Given the description of an element on the screen output the (x, y) to click on. 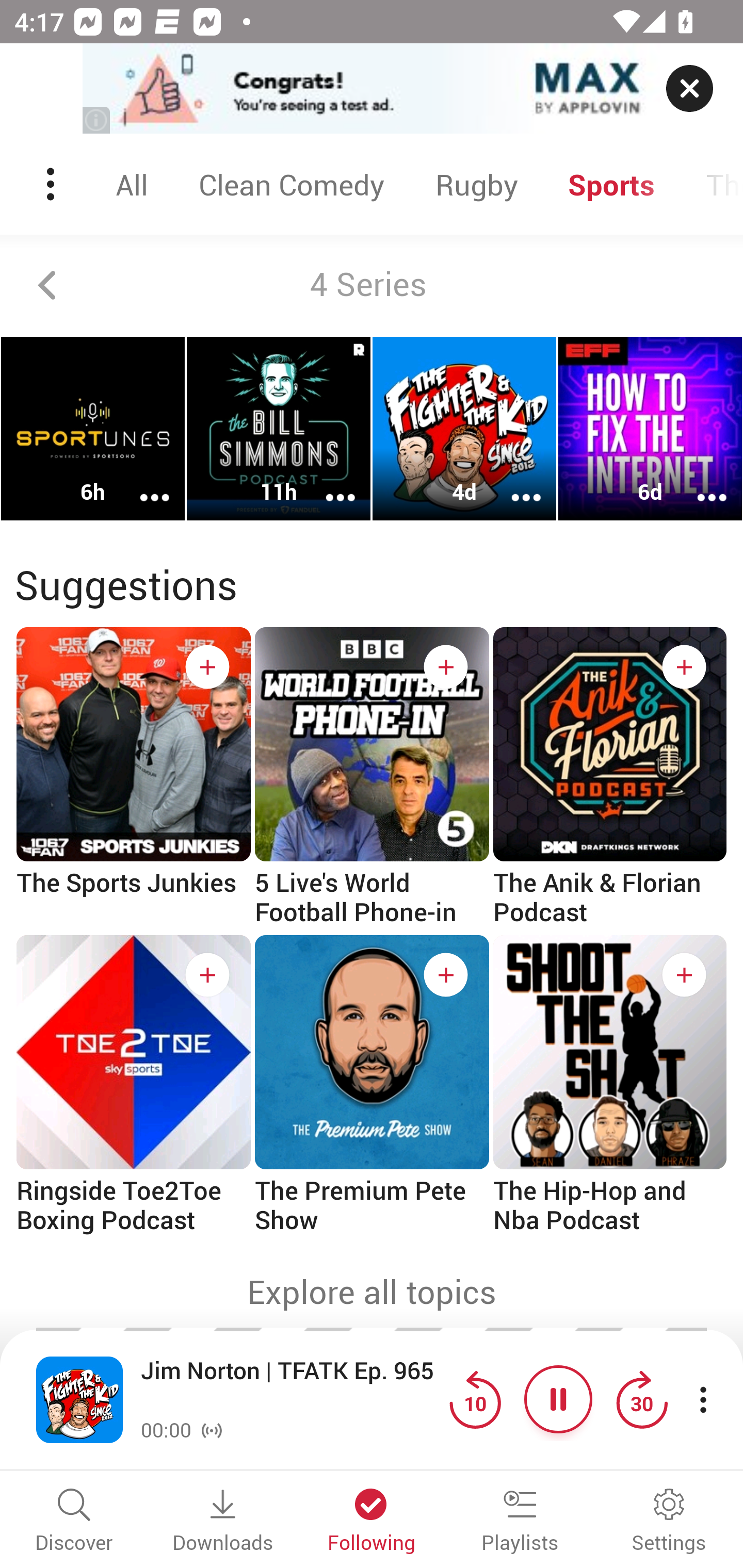
app-monetization (371, 88)
(i) (96, 119)
Menu (52, 184)
All (131, 184)
Clean Comedy (291, 184)
Rugby (476, 184)
Sports (611, 184)
4 Series (371, 285)
Sportunes HK 6h More options More options (92, 428)
The Fighter & The Kid 4d More options More options (464, 428)
More options (141, 484)
More options (326, 484)
More options (512, 484)
More options (698, 484)
Subscribe button (207, 666)
Subscribe button (446, 666)
Subscribe button (684, 666)
Subscribe button (207, 974)
Subscribe button (446, 974)
Subscribe button (684, 974)
Explore all topics (371, 1291)
Open fullscreen player (79, 1399)
More player controls (703, 1399)
Jim Norton | TFATK Ep. 965 (290, 1385)
Pause button (558, 1398)
Jump back (475, 1399)
Jump forward (641, 1399)
Discover (74, 1521)
Downloads (222, 1521)
Following (371, 1521)
Playlists (519, 1521)
Settings (668, 1521)
